Given the description of an element on the screen output the (x, y) to click on. 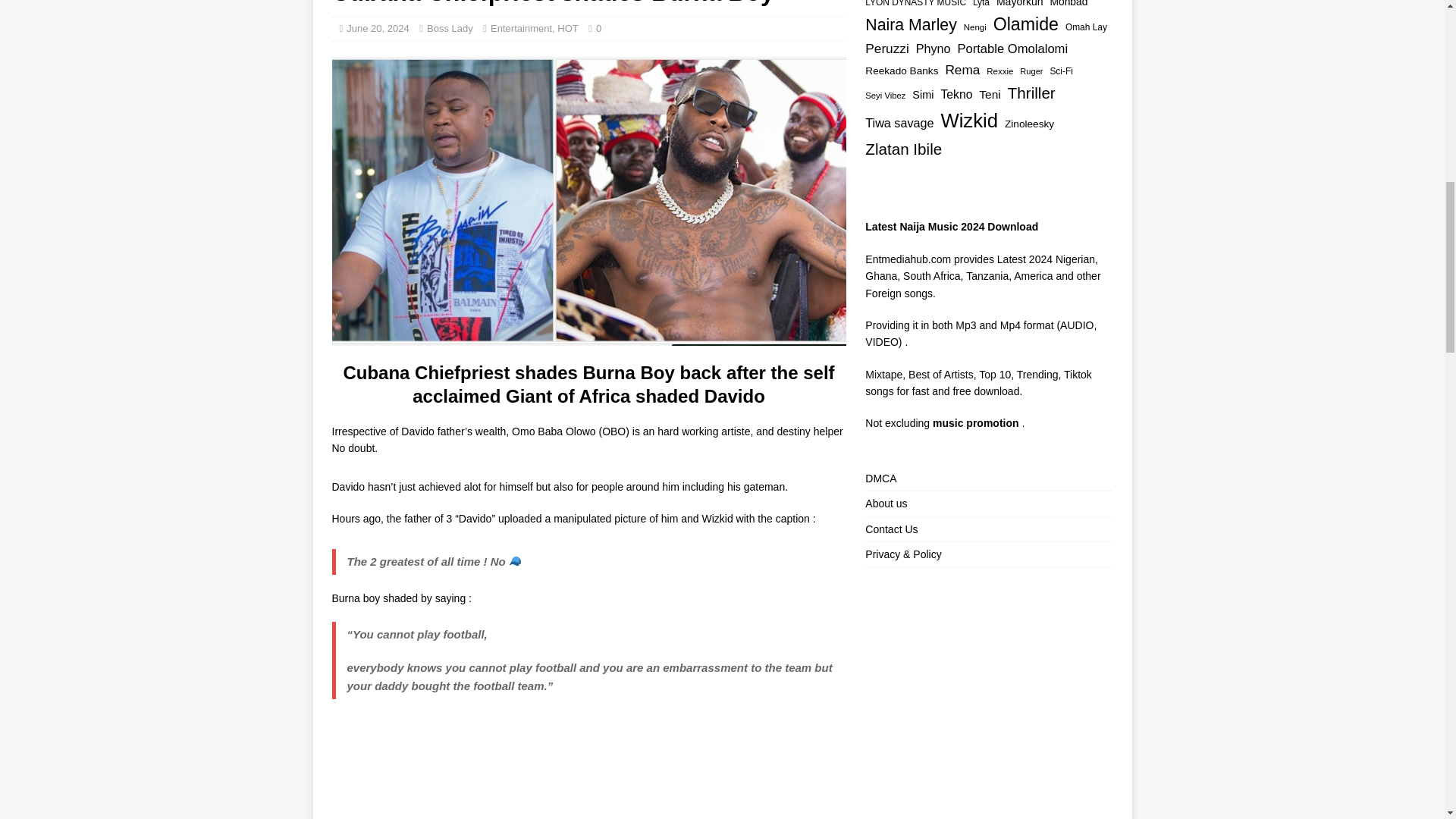
June 20, 2024 (377, 28)
HOT (567, 28)
Entertainment (520, 28)
Boss Lady (449, 28)
